Given the description of an element on the screen output the (x, y) to click on. 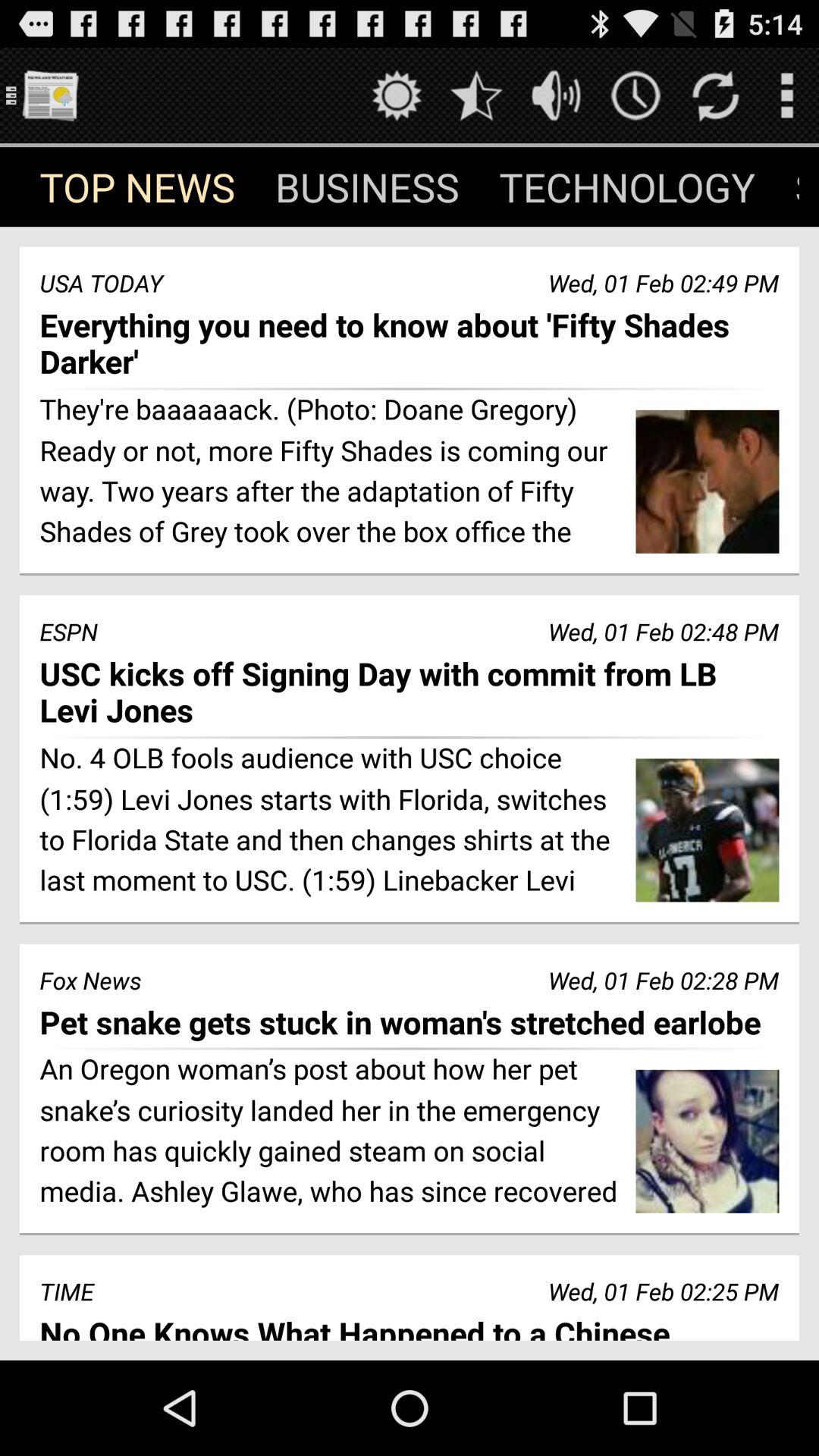
time (635, 95)
